Given the description of an element on the screen output the (x, y) to click on. 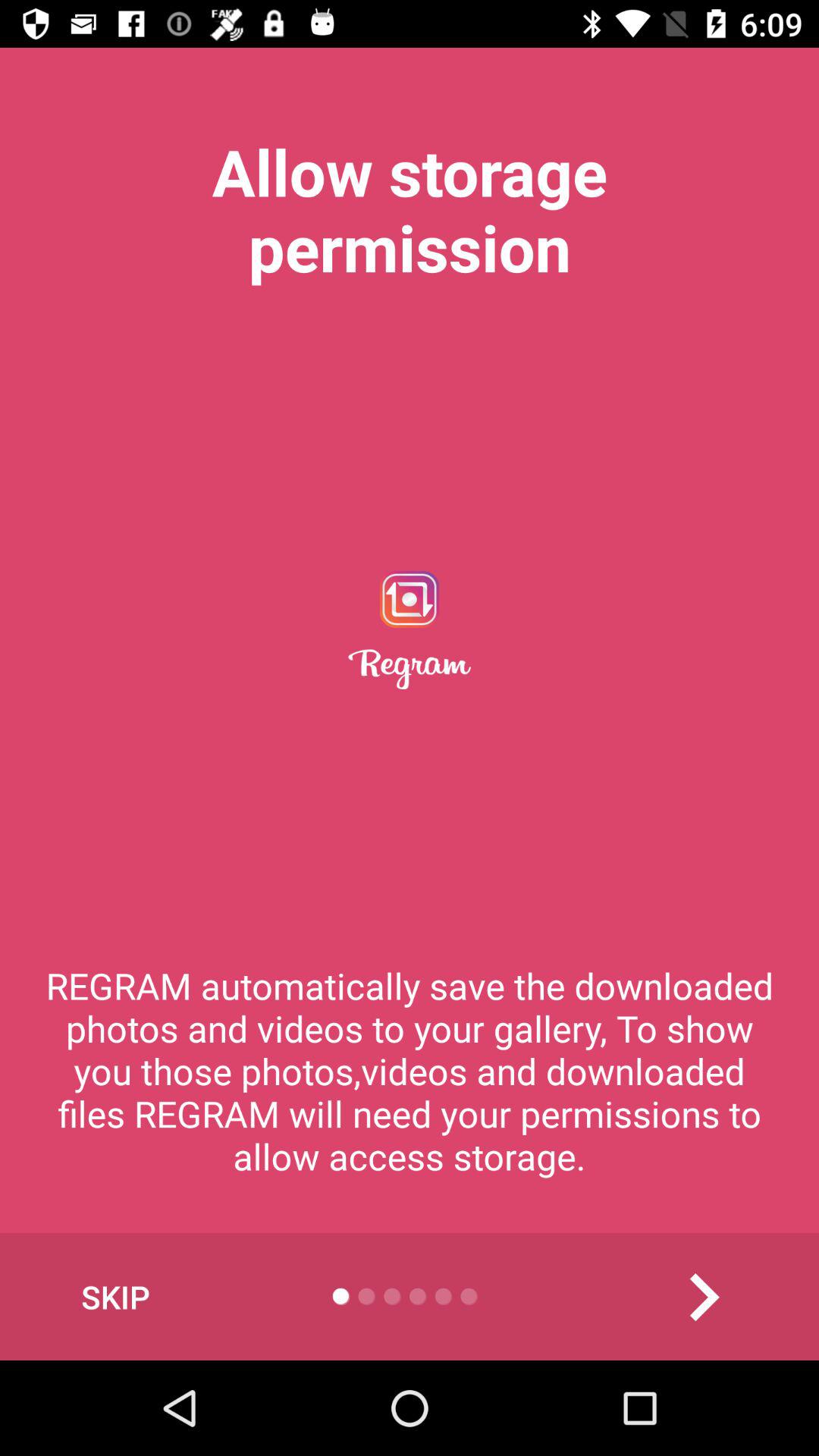
turn off skip at the bottom left corner (114, 1296)
